Given the description of an element on the screen output the (x, y) to click on. 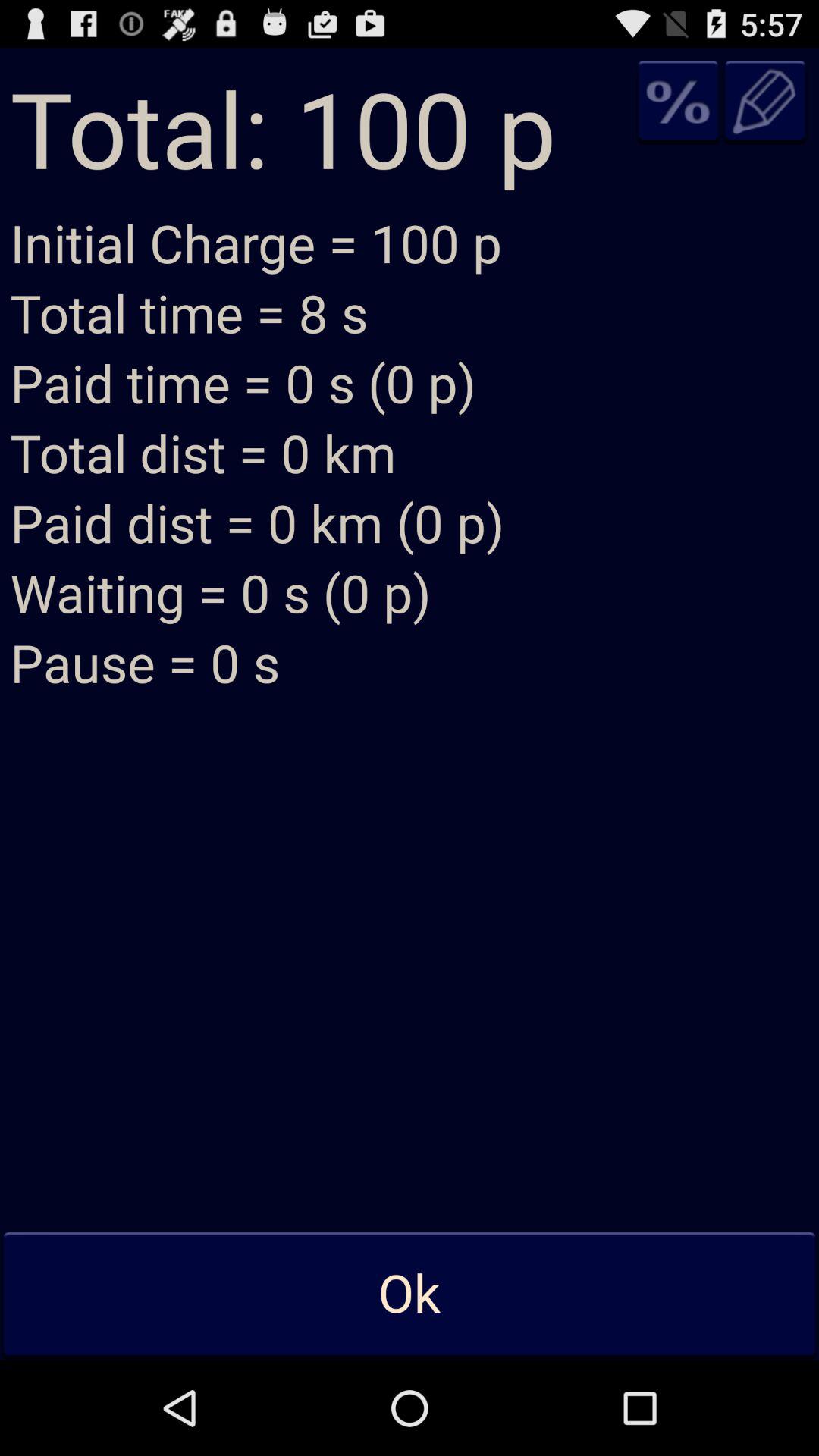
percentage (677, 101)
